Given the description of an element on the screen output the (x, y) to click on. 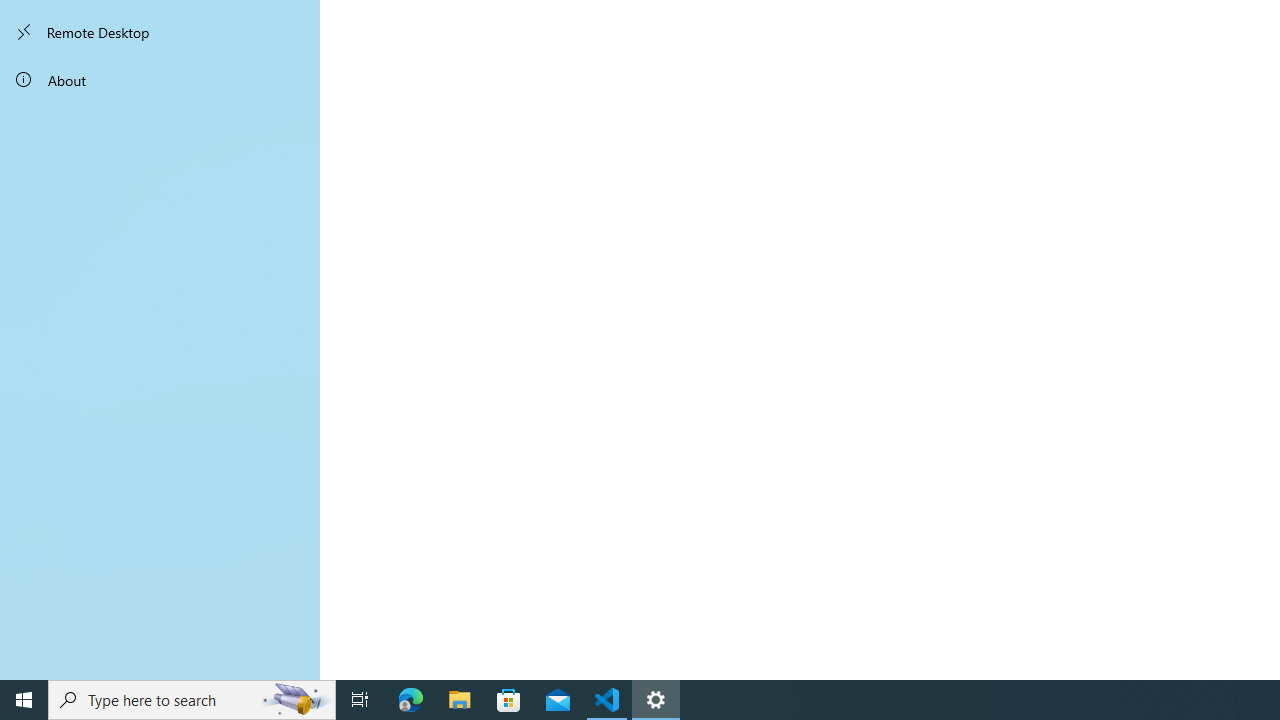
Start (24, 699)
Settings - 1 running window (656, 699)
Search highlights icon opens search home window (295, 699)
Remote Desktop (160, 31)
File Explorer (460, 699)
Visual Studio Code - 1 running window (607, 699)
Type here to search (191, 699)
Microsoft Store (509, 699)
Task View (359, 699)
About (160, 79)
Microsoft Edge (411, 699)
